Given the description of an element on the screen output the (x, y) to click on. 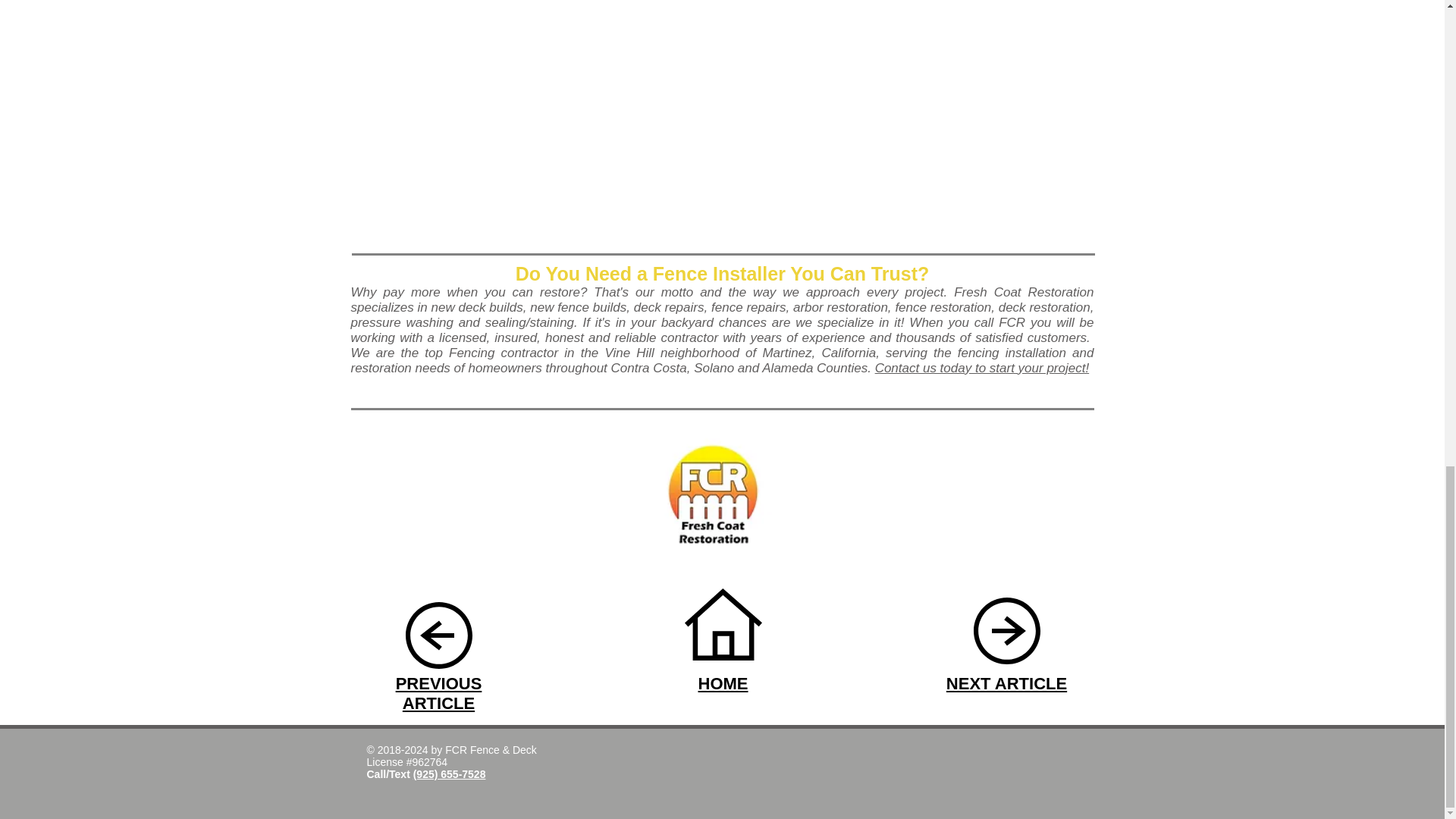
HOME (722, 683)
PREVIOUS ARTICLE (438, 693)
NEXT ARTICLE (1006, 683)
Contact us today to start your project! (982, 368)
